Given the description of an element on the screen output the (x, y) to click on. 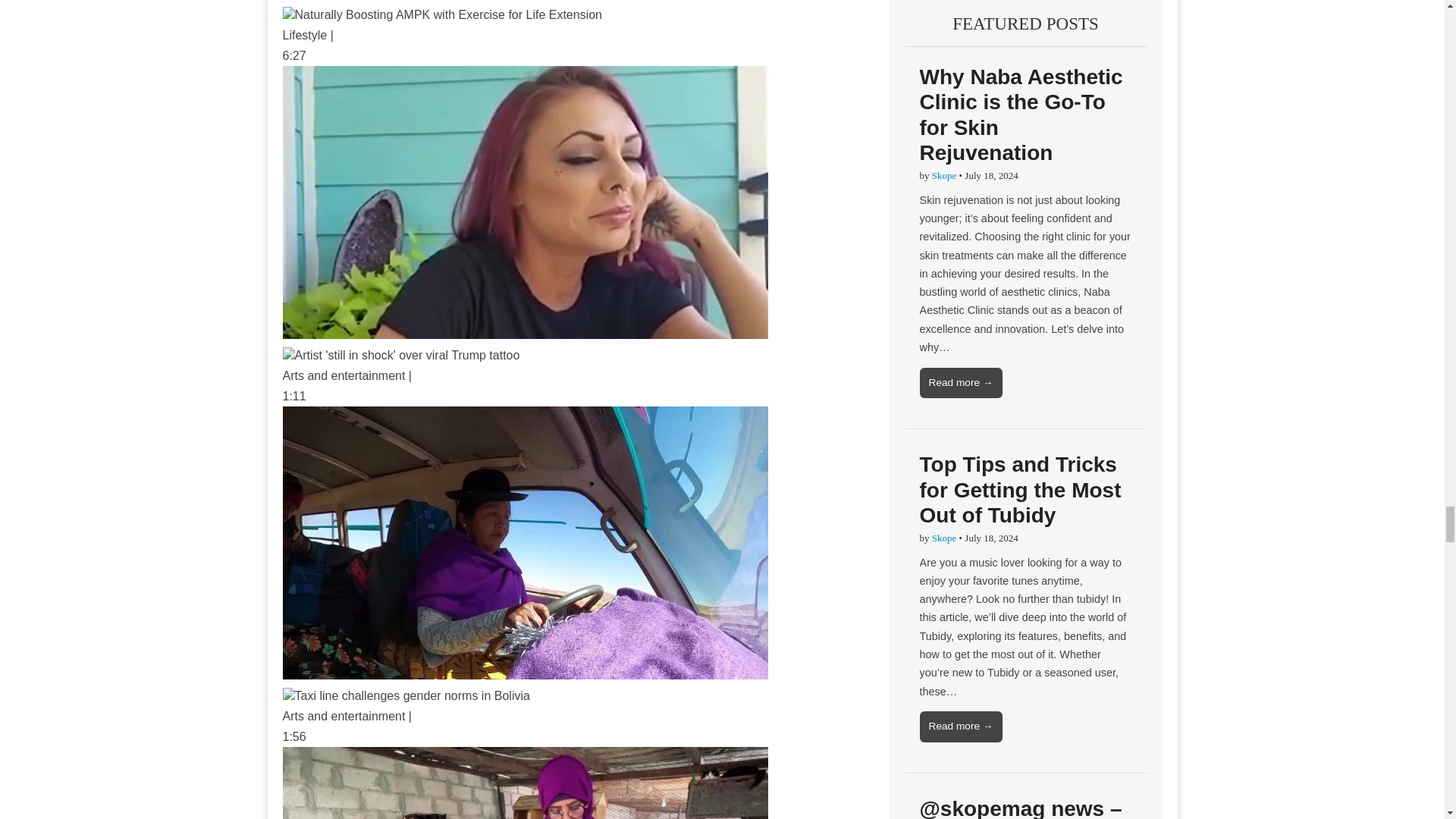
Posts by Skope (943, 174)
Posts by Skope (943, 537)
